Given the description of an element on the screen output the (x, y) to click on. 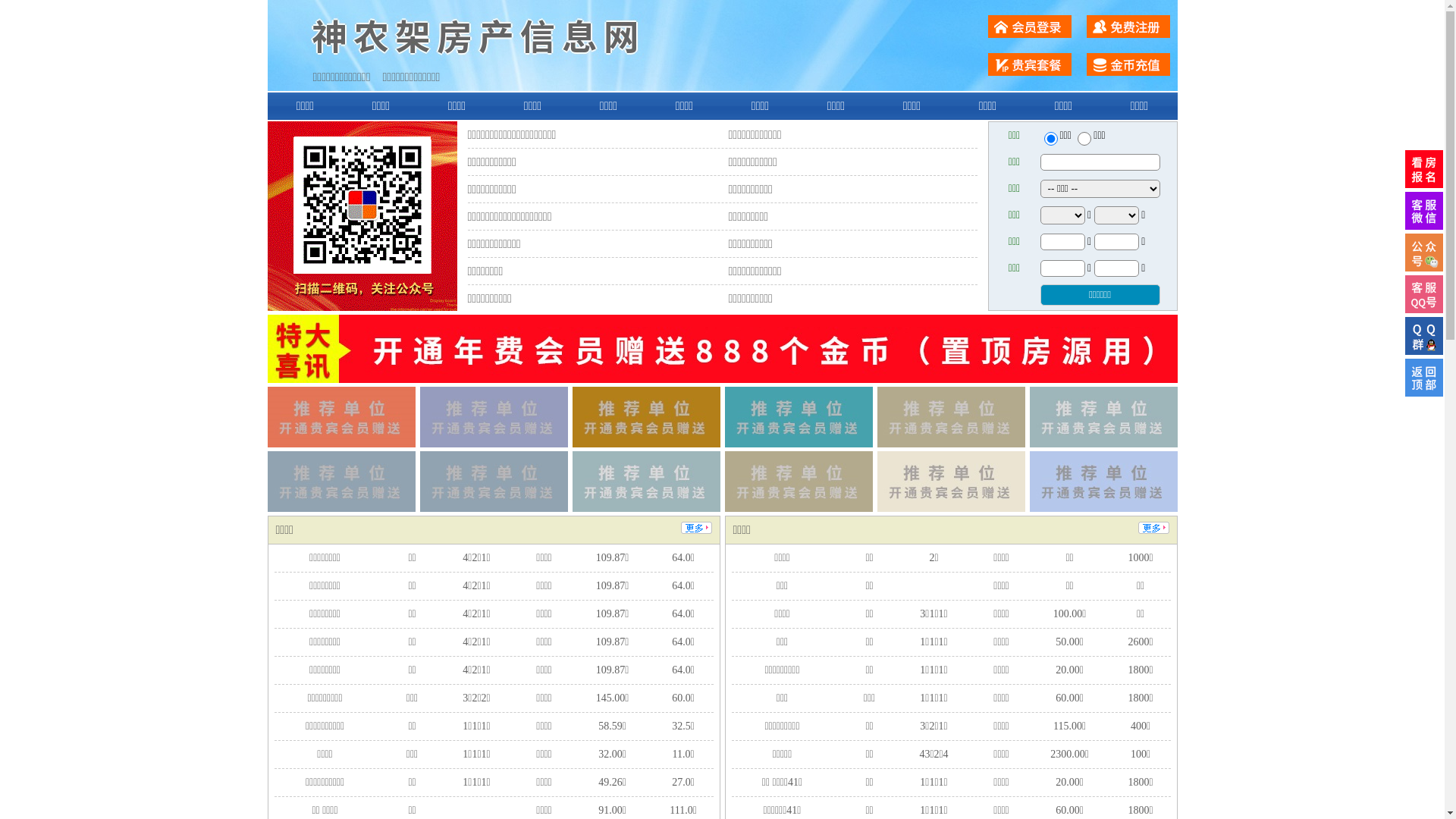
chuzu Element type: text (1084, 138)
ershou Element type: text (1050, 138)
